Given the description of an element on the screen output the (x, y) to click on. 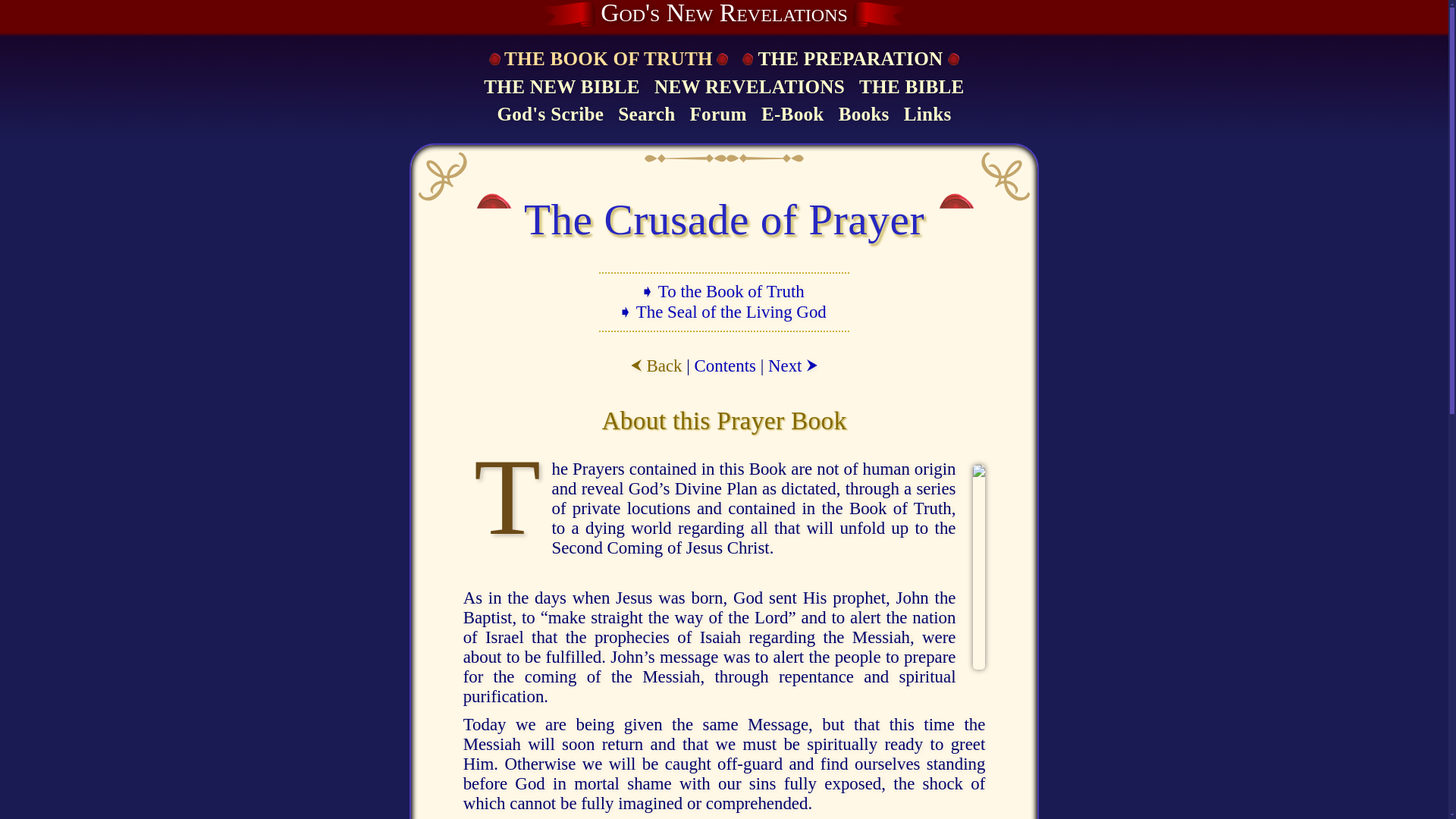
Forum (717, 114)
God's New Revelations (723, 14)
E-Book (792, 114)
Books (863, 114)
Contents (724, 365)
Search (646, 114)
THE BOOK OF TRUTH (607, 59)
THE NEW BIBLE (561, 87)
THE BIBLE (912, 87)
Links (927, 114)
God's Scribe (550, 114)
NEW REVELATIONS (749, 87)
